Given the description of an element on the screen output the (x, y) to click on. 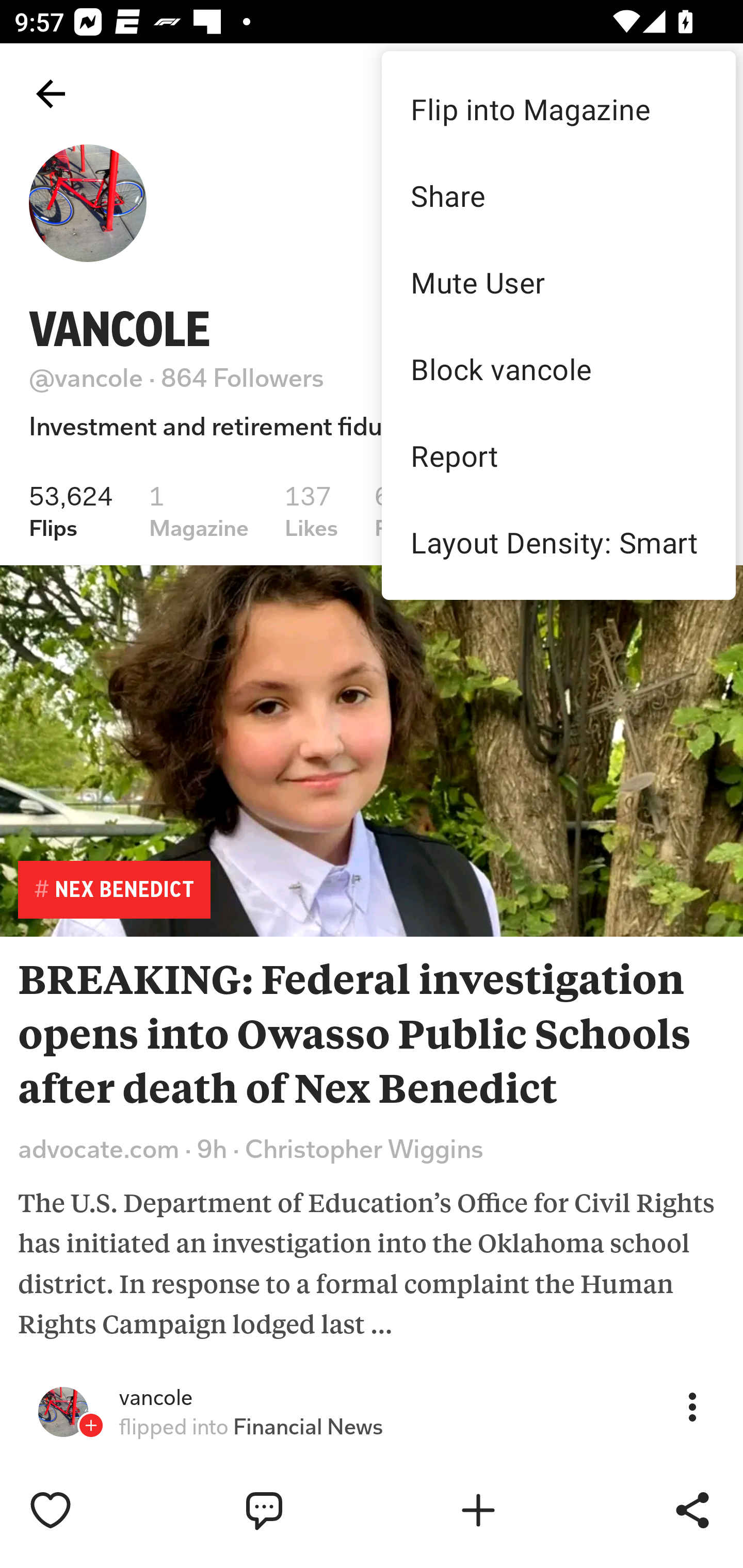
Flip into Magazine (558, 108)
Share (558, 195)
Mute User (558, 282)
Block vancole (558, 369)
Report (558, 455)
Layout Density: Smart (558, 541)
